Given the description of an element on the screen output the (x, y) to click on. 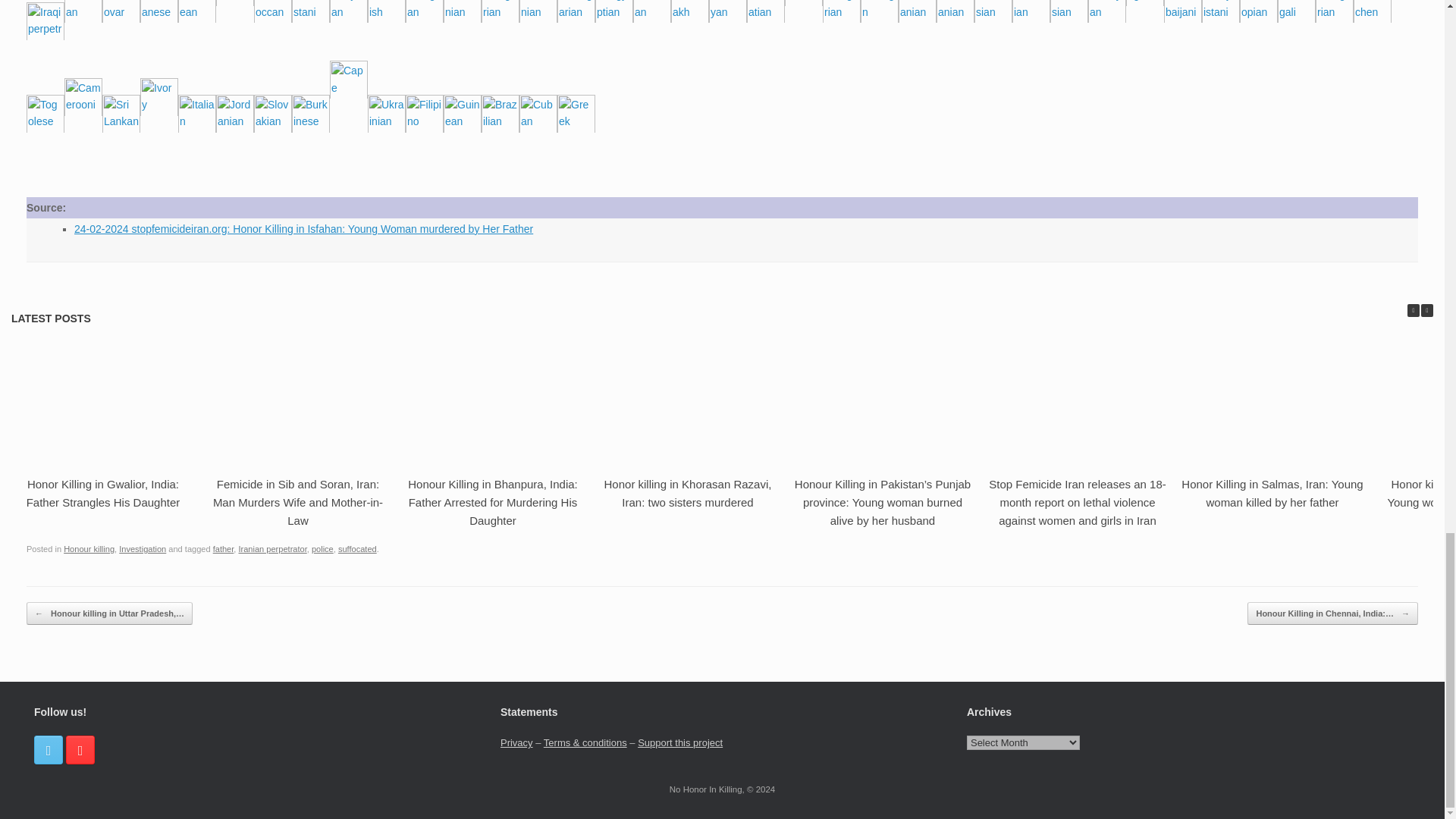
Lebanese perpetrator (158, 11)
Eritrean perpetrator (196, 11)
Indian perpetrator (82, 11)
Iraqi perpetrator (45, 21)
Kosovar perpetrator (120, 11)
